Given the description of an element on the screen output the (x, y) to click on. 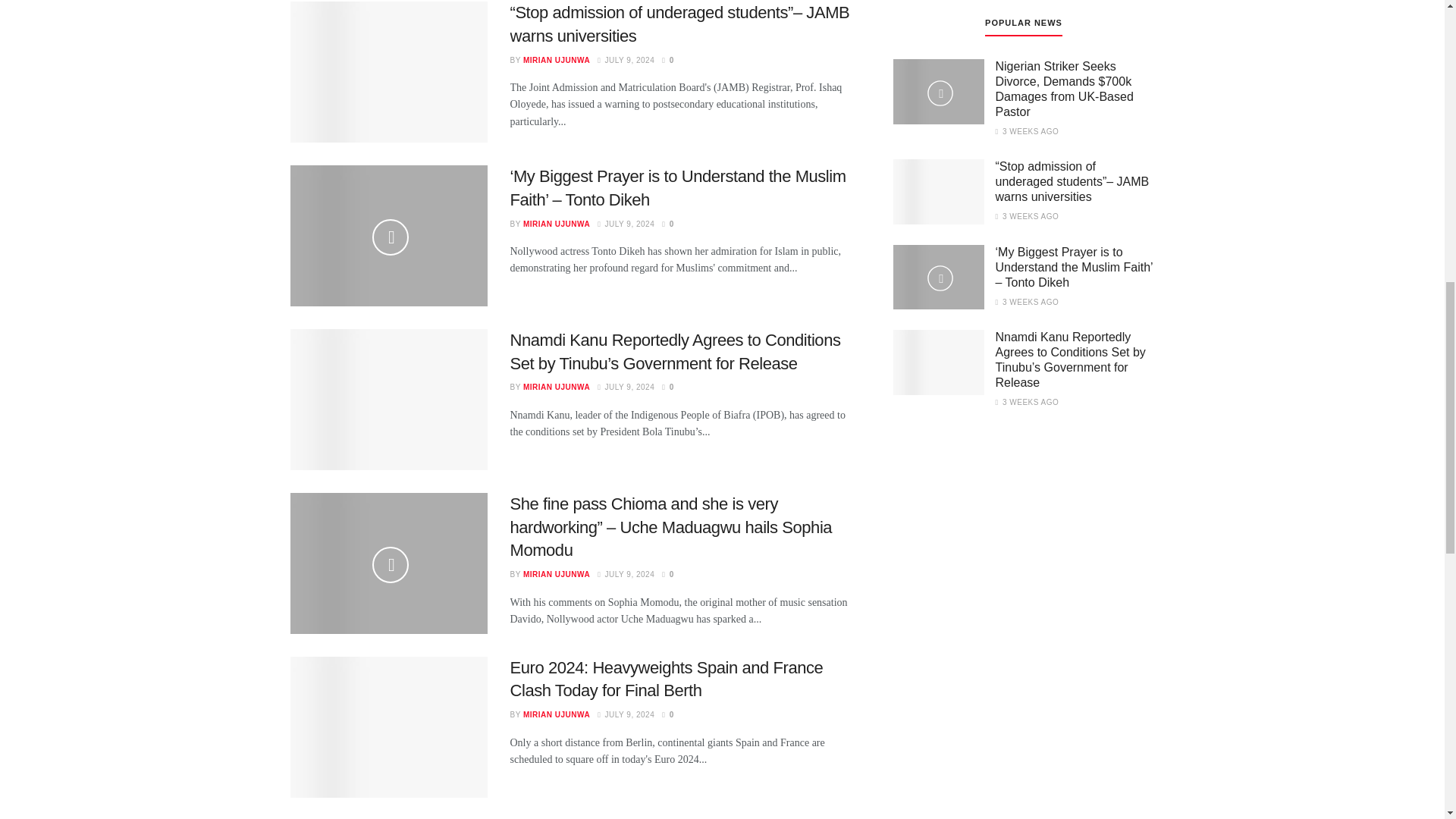
0 (668, 60)
0 (668, 387)
JULY 9, 2024 (624, 387)
MIRIAN UJUNWA (555, 60)
JULY 9, 2024 (624, 60)
JULY 9, 2024 (624, 224)
MIRIAN UJUNWA (555, 224)
0 (668, 224)
MIRIAN UJUNWA (555, 387)
